Given the description of an element on the screen output the (x, y) to click on. 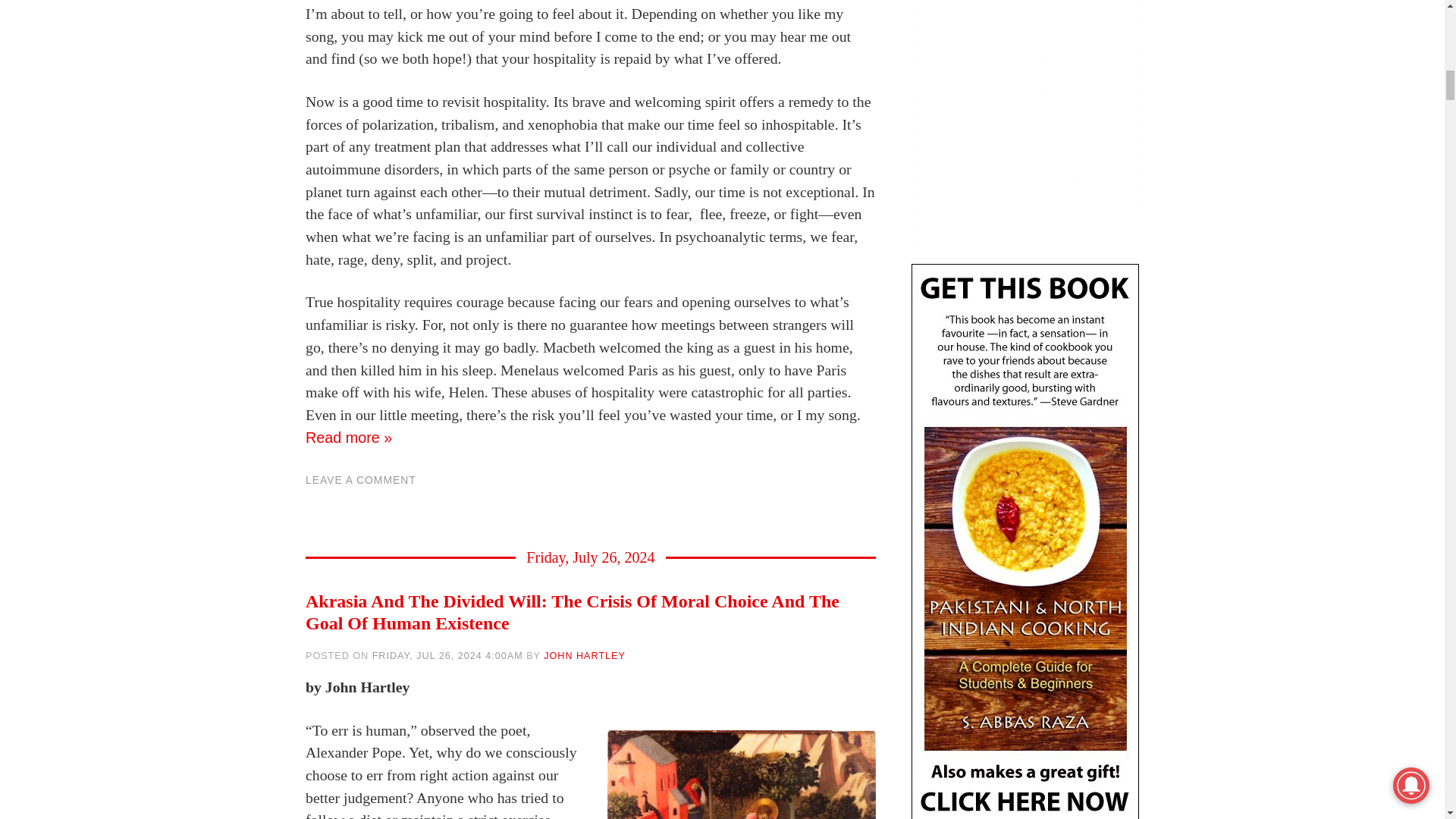
FRIDAY, JUL 26, 2024 4:00AM (447, 655)
3rd party ad content (1024, 124)
LEAVE A COMMENT (360, 480)
JOHN HARTLEY (584, 655)
